Given the description of an element on the screen output the (x, y) to click on. 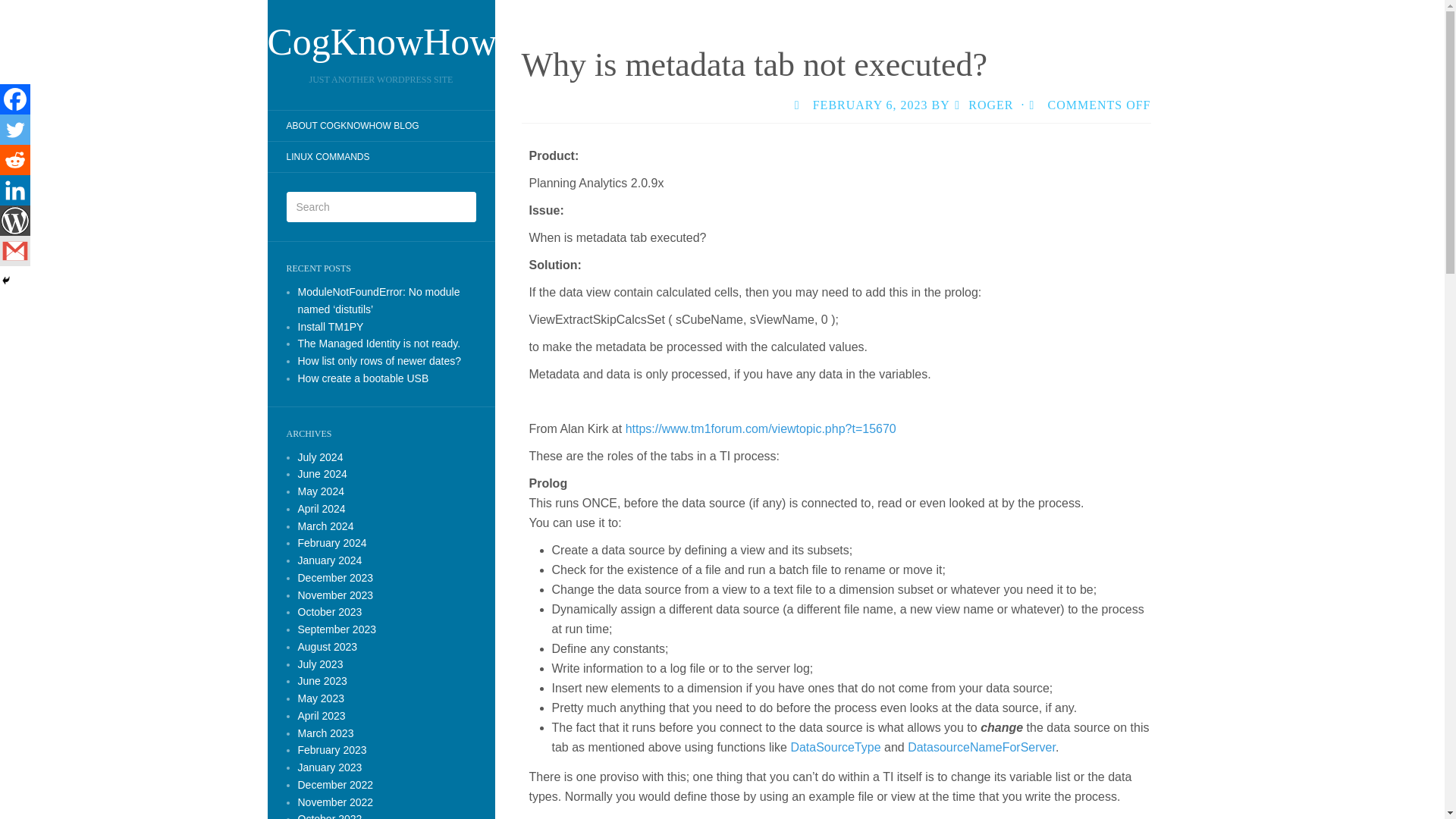
September 2023 (336, 629)
WordPress (15, 220)
June 2023 (321, 680)
July 2023 (319, 664)
How create a bootable USB (362, 378)
May 2024 (320, 491)
March 2024 (325, 526)
March 2023 (325, 732)
Hide (5, 280)
May 2023 (320, 698)
ABOUT COGKNOWHOW BLOG (352, 125)
June 2024 (321, 473)
November 2023 (334, 594)
CogKnowHow (380, 41)
April 2024 (321, 508)
